Given the description of an element on the screen output the (x, y) to click on. 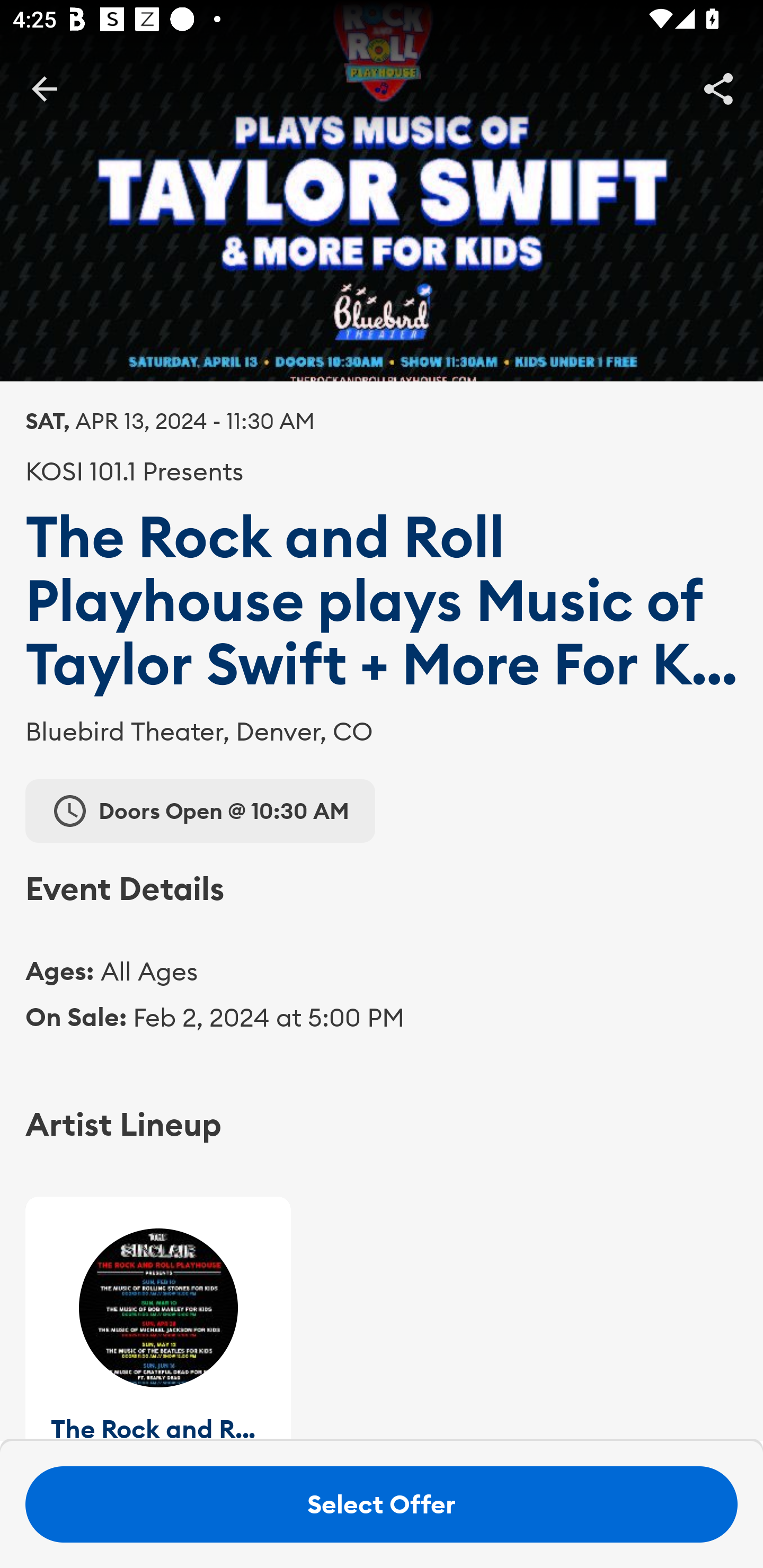
BackButton (44, 88)
Share (718, 88)
The Rock and Roll Playhouse (157, 1318)
Select Offer (381, 1504)
